Given the description of an element on the screen output the (x, y) to click on. 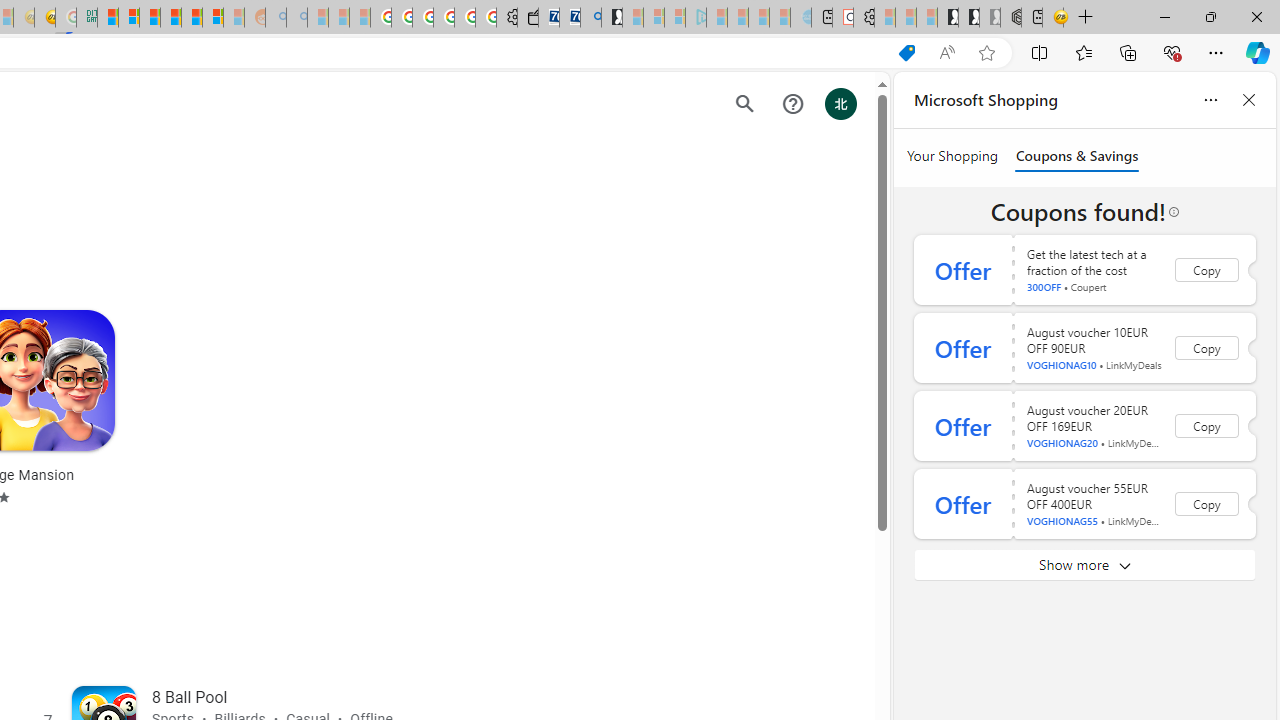
Microsoft Start - Sleeping (758, 17)
Utah sues federal government - Search - Sleeping (296, 17)
Microsoft Start Gaming (611, 17)
Cheap Car Rentals - Save70.com (569, 17)
Nordace - Nordace Siena Is Not An Ordinary Backpack (1011, 17)
Bing Real Estate - Home sales and rental listings (591, 17)
